Given the description of an element on the screen output the (x, y) to click on. 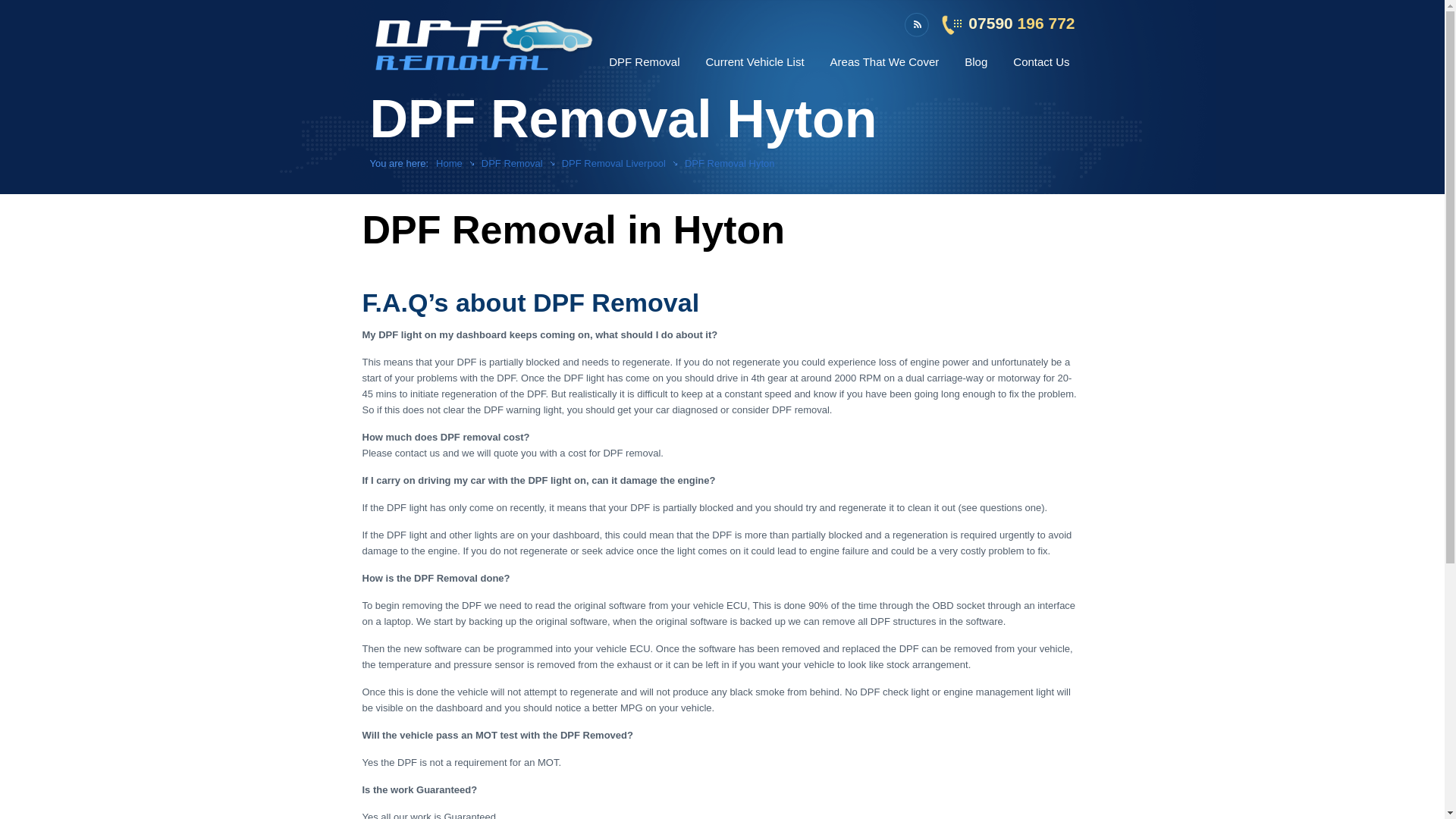
RSS (916, 24)
RSS (916, 24)
Dpf-Removal.co.uk (482, 54)
DPF Removal (643, 61)
